Given the description of an element on the screen output the (x, y) to click on. 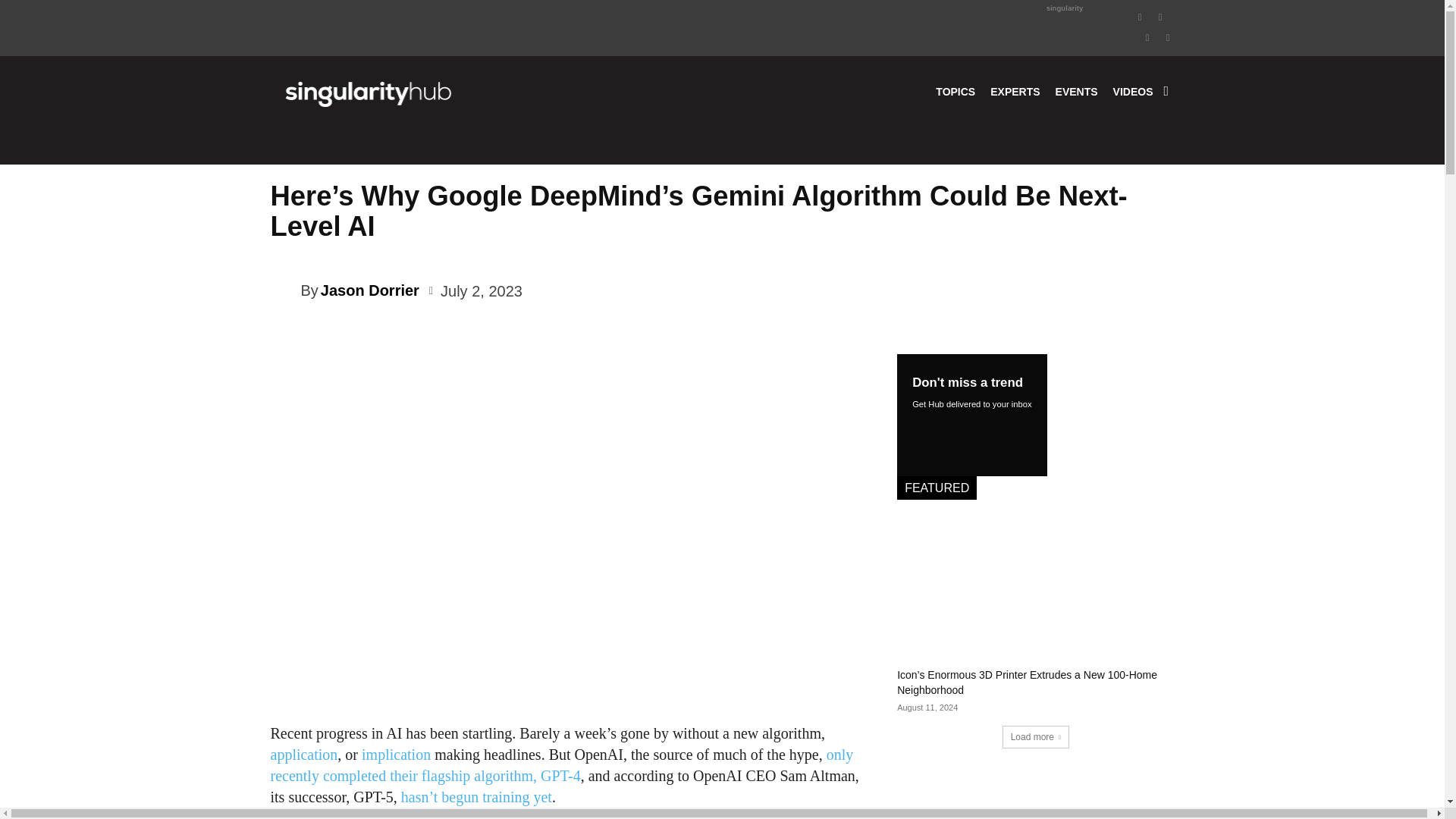
Twitter (1147, 35)
TOPICS (955, 91)
Facebook (1140, 15)
Instagram (1160, 15)
EXPERTS (1014, 91)
Youtube (1167, 35)
Jason Dorrier (284, 290)
